Given the description of an element on the screen output the (x, y) to click on. 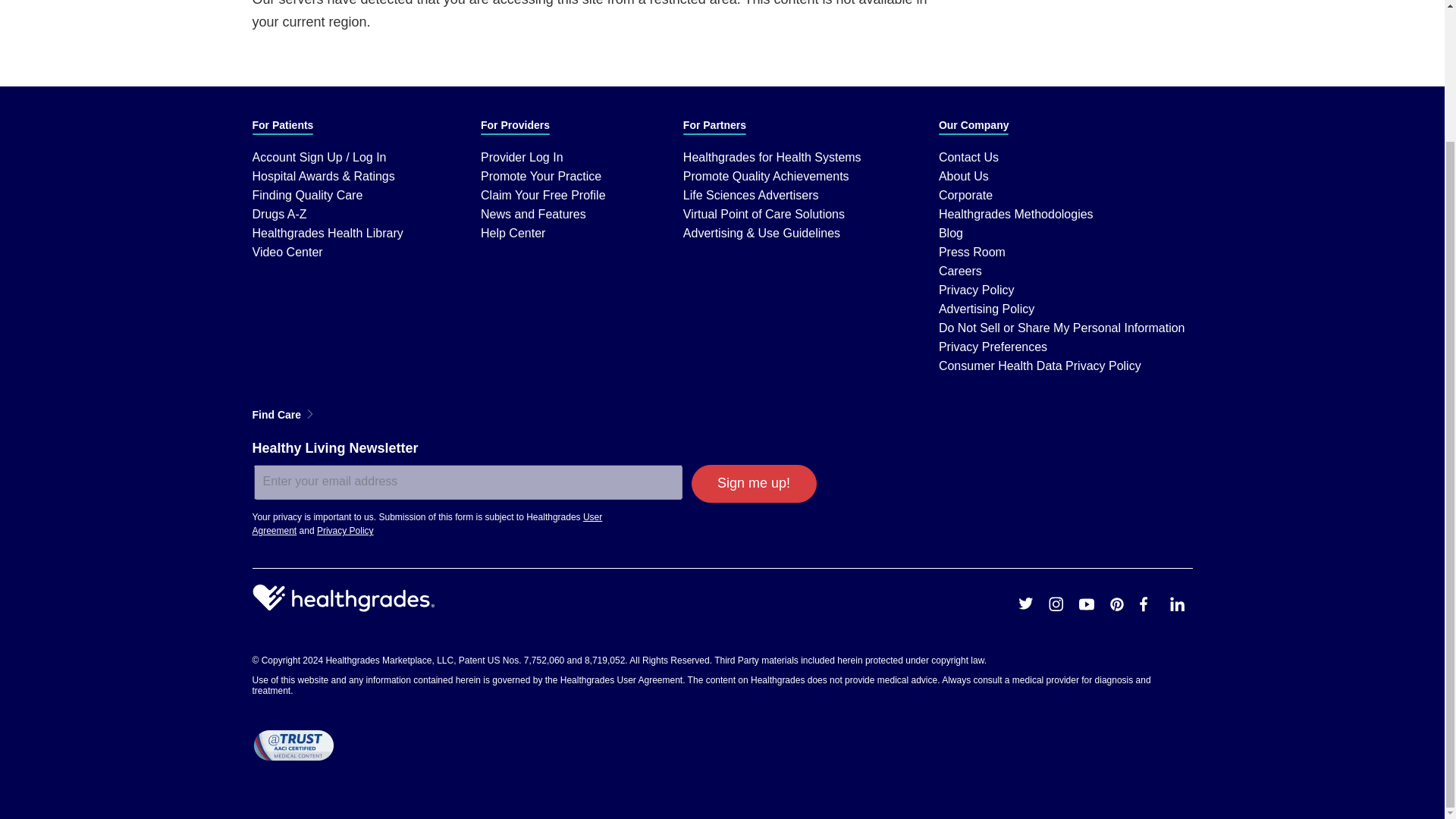
This website is certified by AACI. Click to verify. (293, 745)
